Given the description of an element on the screen output the (x, y) to click on. 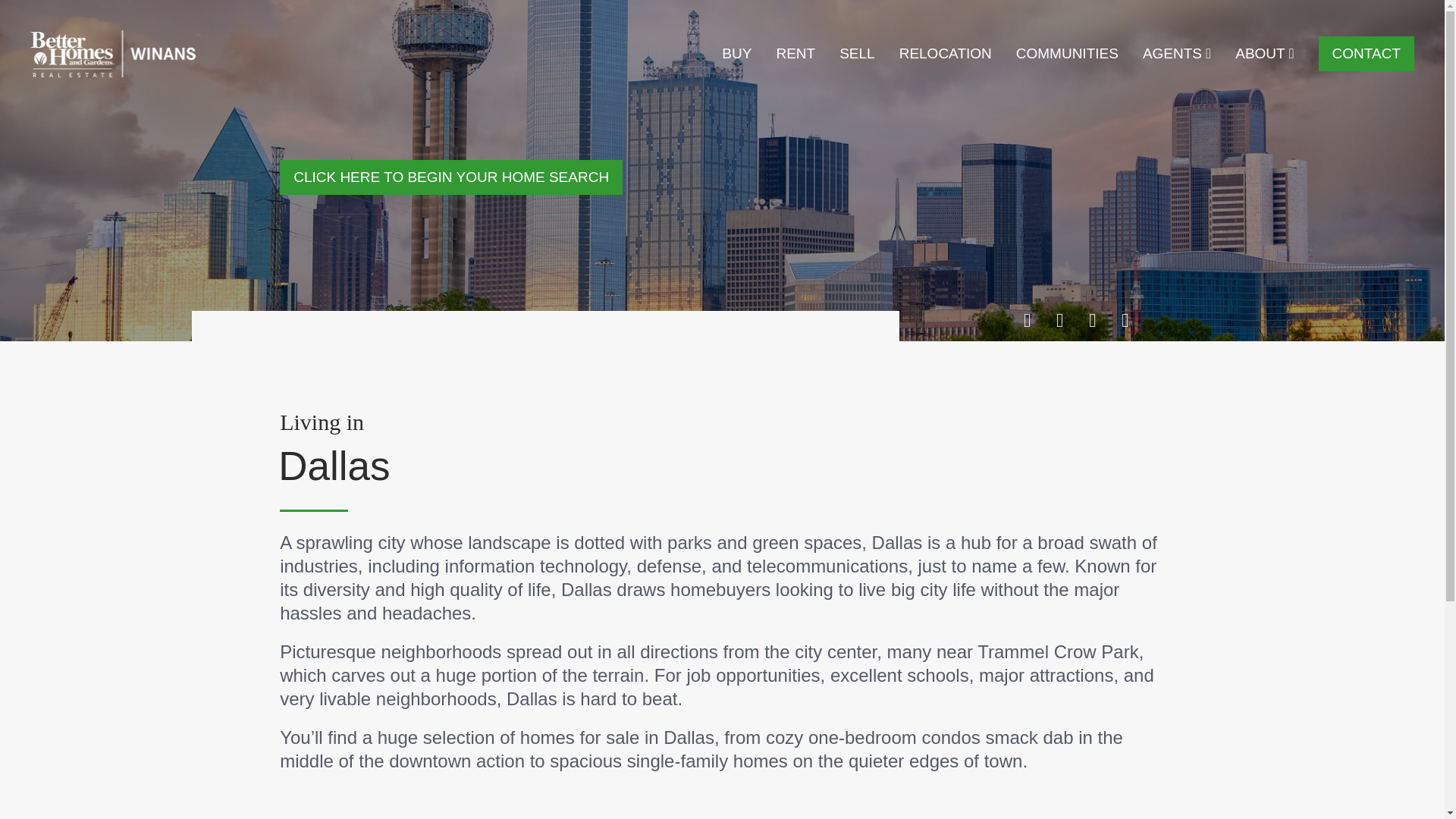
CLICK HERE TO BEGIN YOUR HOME SEARCH (451, 177)
Submit (722, 538)
